Given the description of an element on the screen output the (x, y) to click on. 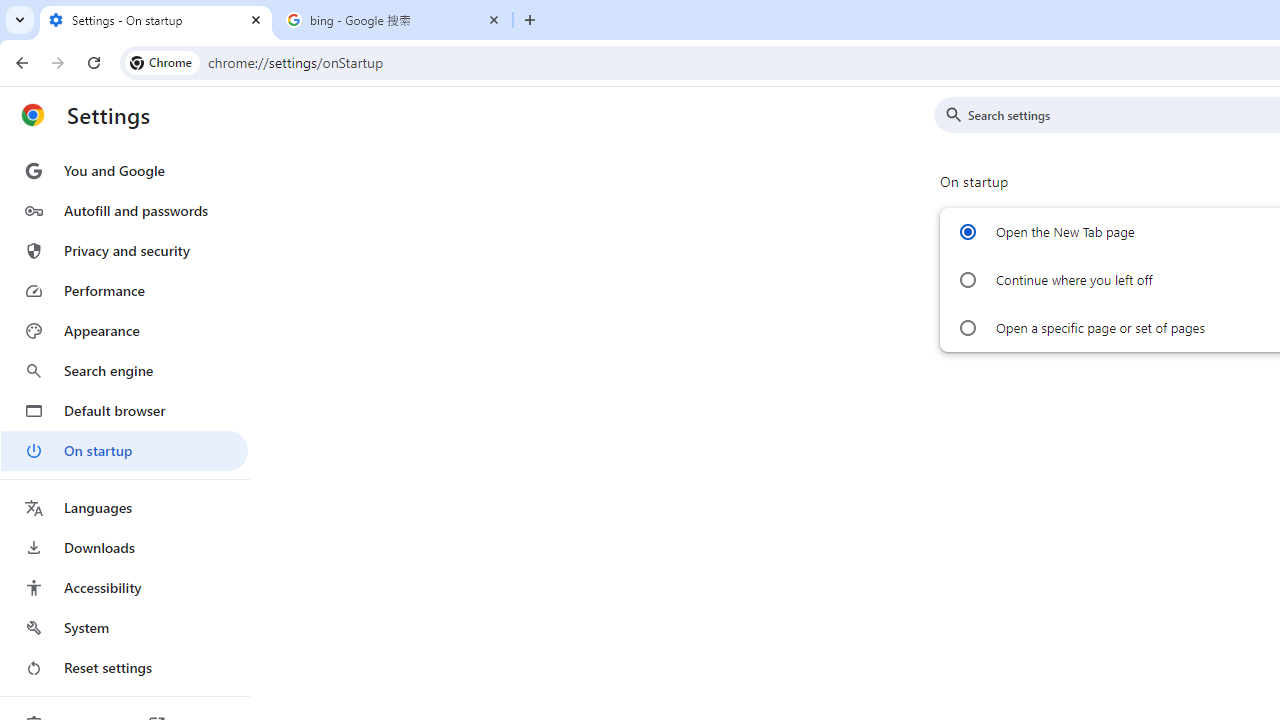
Languages (124, 507)
You and Google (124, 170)
Accessibility (124, 587)
Performance (124, 290)
Continue where you left off (966, 280)
Open a specific page or set of pages (966, 327)
